Given the description of an element on the screen output the (x, y) to click on. 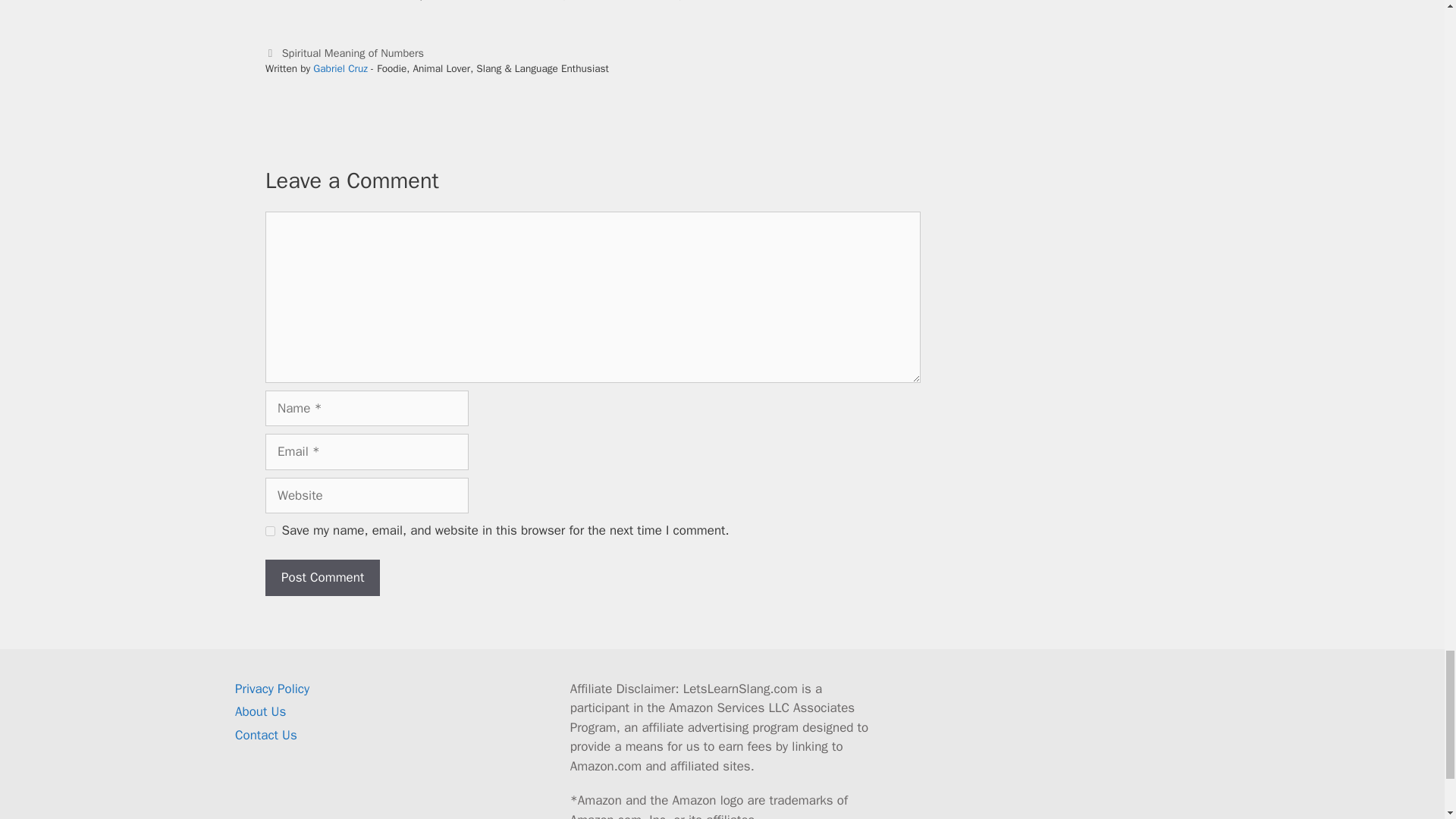
yes (269, 531)
Post Comment (322, 577)
